Given the description of an element on the screen output the (x, y) to click on. 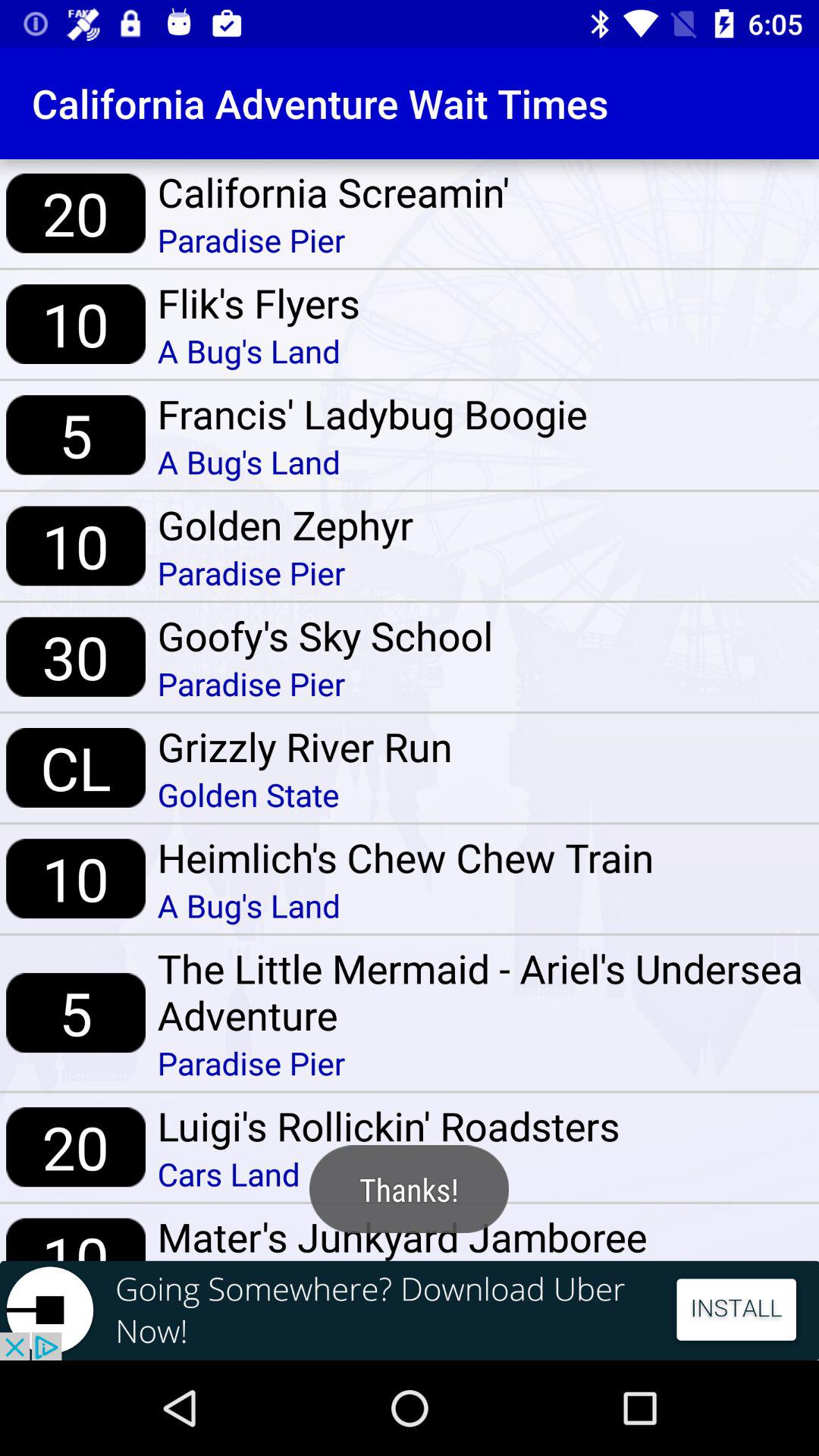
open the cl icon (75, 767)
